Given the description of an element on the screen output the (x, y) to click on. 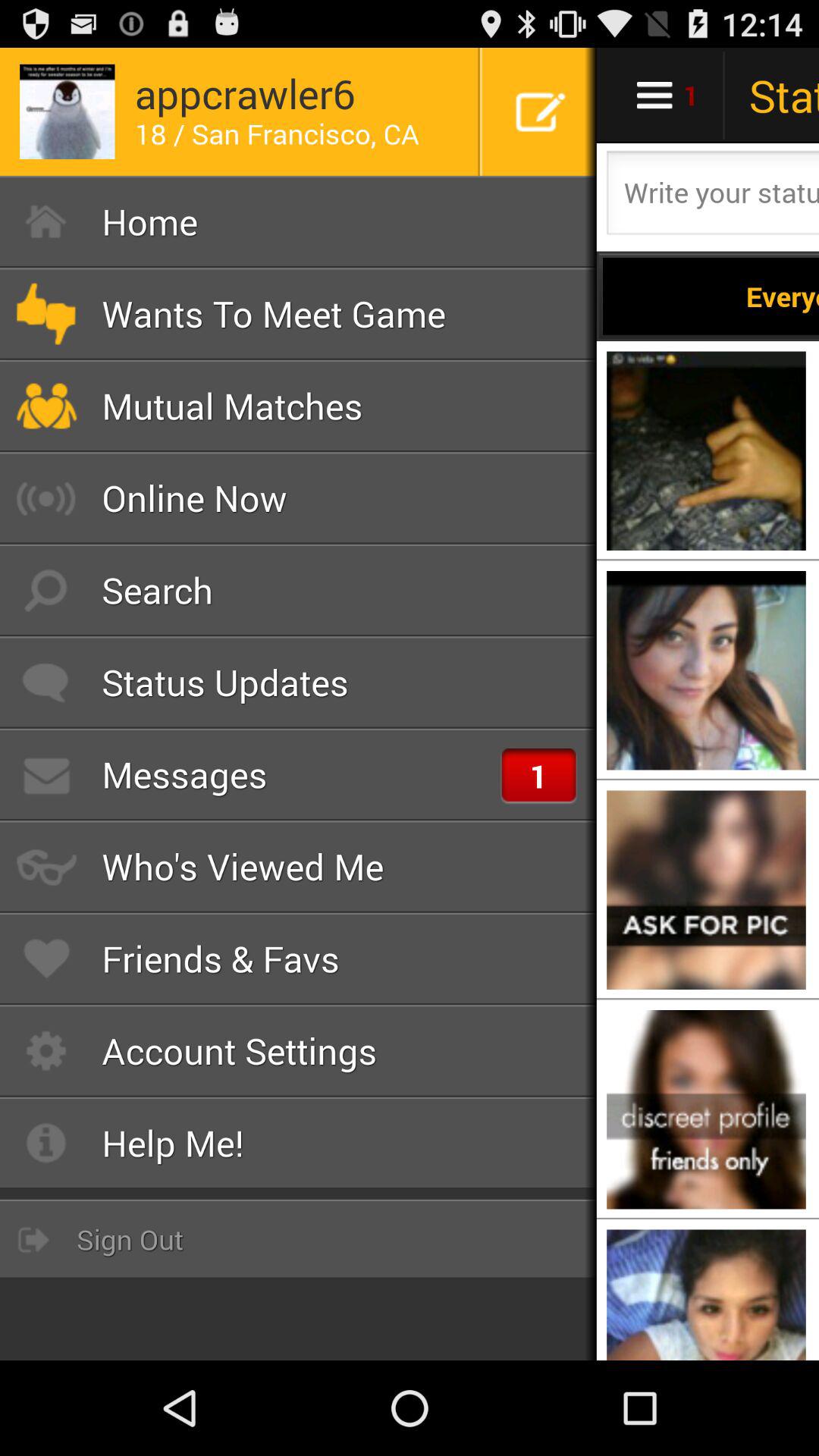
turn on icon below online now (298, 590)
